Given the description of an element on the screen output the (x, y) to click on. 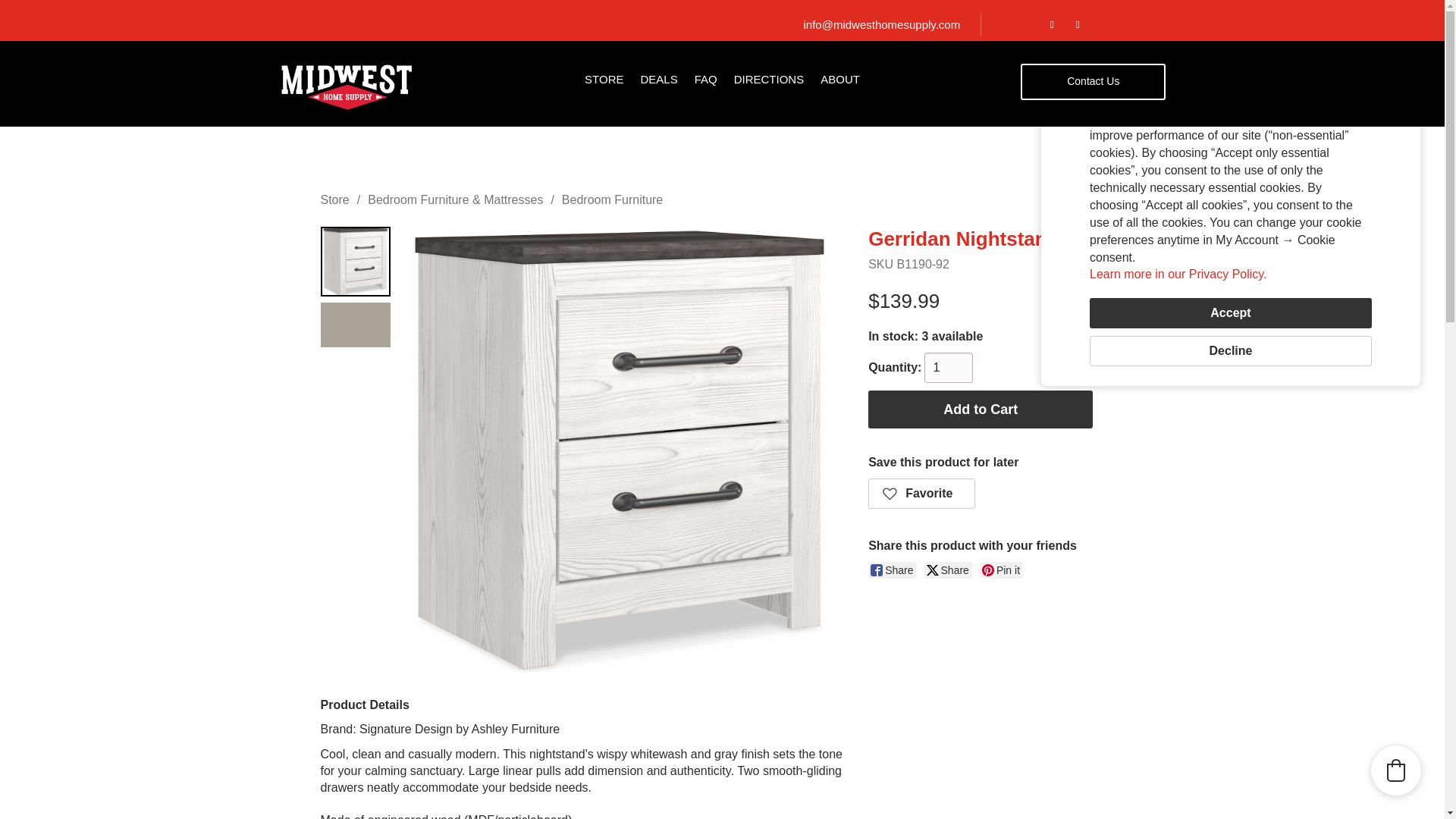
ABOUT (840, 82)
Follow on Facebook (1051, 25)
Contact Us (1093, 81)
FAQ (705, 82)
Follow on Instagram (1077, 25)
DIRECTIONS (769, 82)
DEALS (658, 82)
STORE (604, 82)
